Given the description of an element on the screen output the (x, y) to click on. 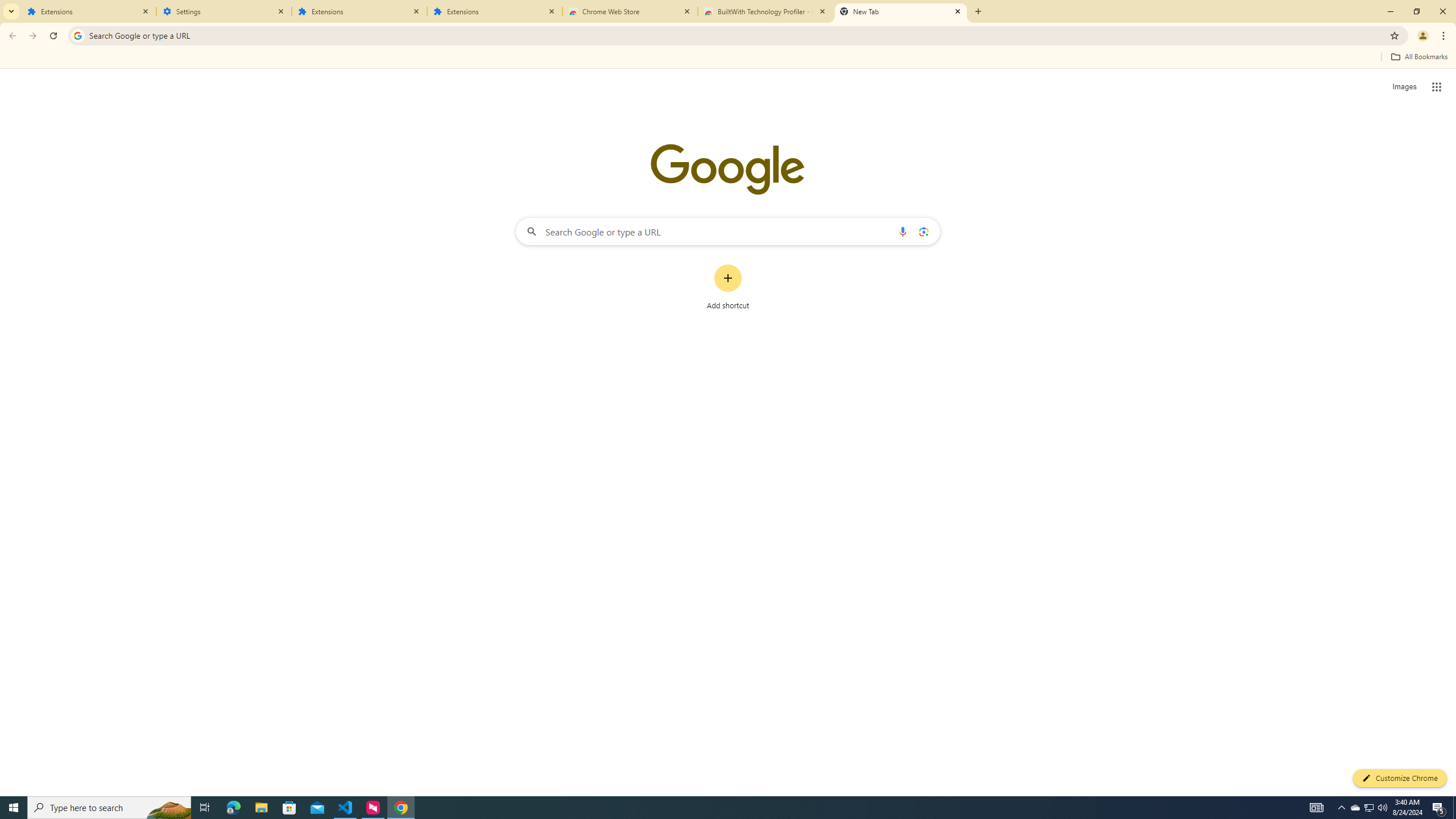
Reload (52, 35)
Search tabs (10, 11)
Back (10, 35)
Extensions (494, 11)
All Bookmarks (1418, 56)
Search for Images  (1403, 87)
Bookmarks (728, 58)
You (1422, 35)
Address and search bar (735, 35)
Minimize (1390, 11)
Customize Chrome (1399, 778)
Google apps (1436, 86)
Settings (224, 11)
Forward (32, 35)
